Given the description of an element on the screen output the (x, y) to click on. 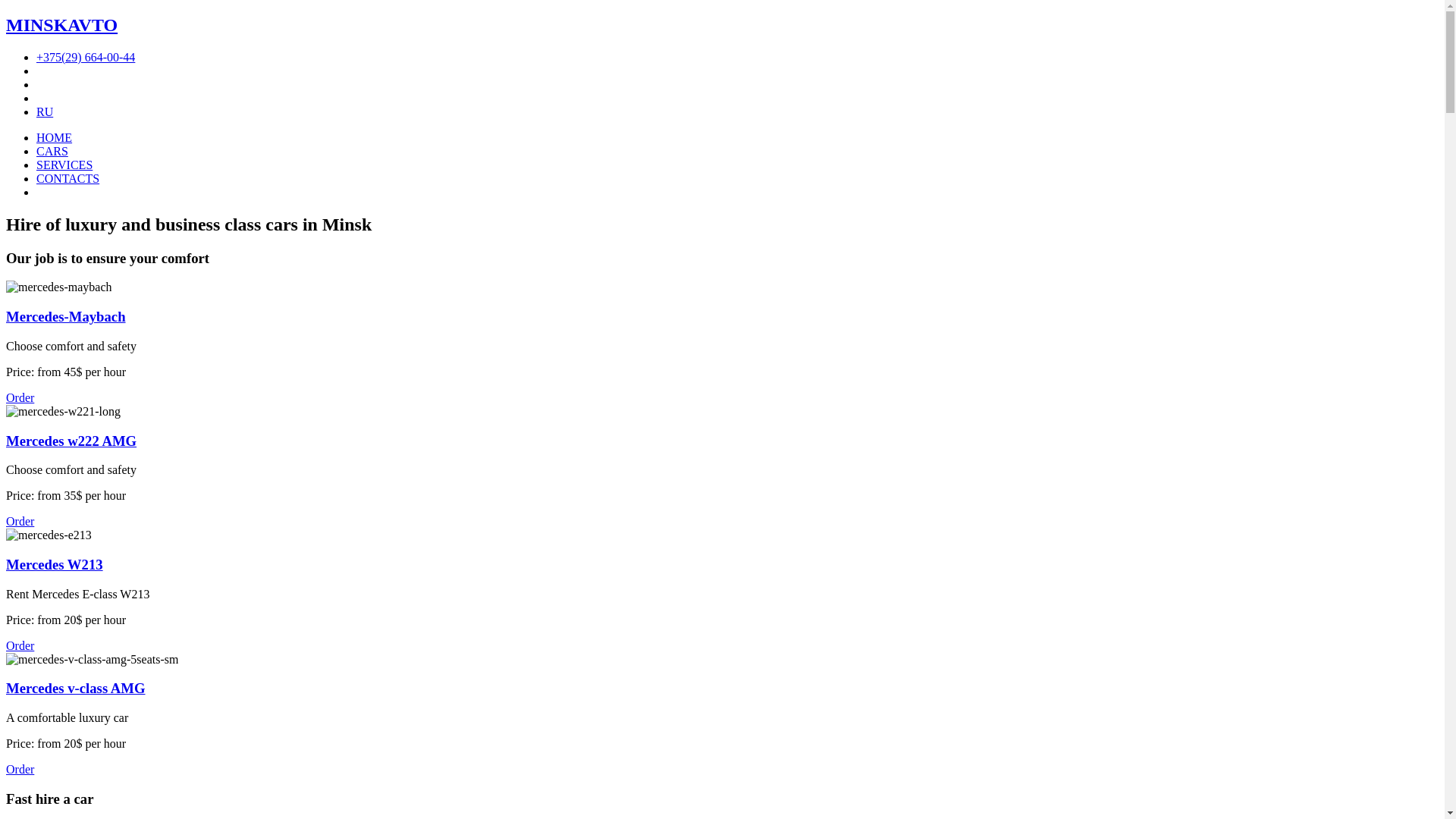
Mercedes v-class AMG Element type: text (75, 688)
Mercedes w222 AMG Element type: text (71, 440)
RU Element type: text (44, 111)
+375(29) 664-00-44 Element type: text (85, 56)
SERVICES Element type: text (64, 164)
CARS Element type: text (52, 150)
Order Element type: text (20, 645)
Mercedes W213 Element type: text (54, 564)
Order Element type: text (20, 520)
MINSKAVTO Element type: text (722, 25)
Order Element type: text (20, 768)
Mercedes-Maybach Element type: text (65, 316)
HOME Element type: text (54, 137)
CONTACTS Element type: text (67, 178)
Order Element type: text (20, 397)
